Given the description of an element on the screen output the (x, y) to click on. 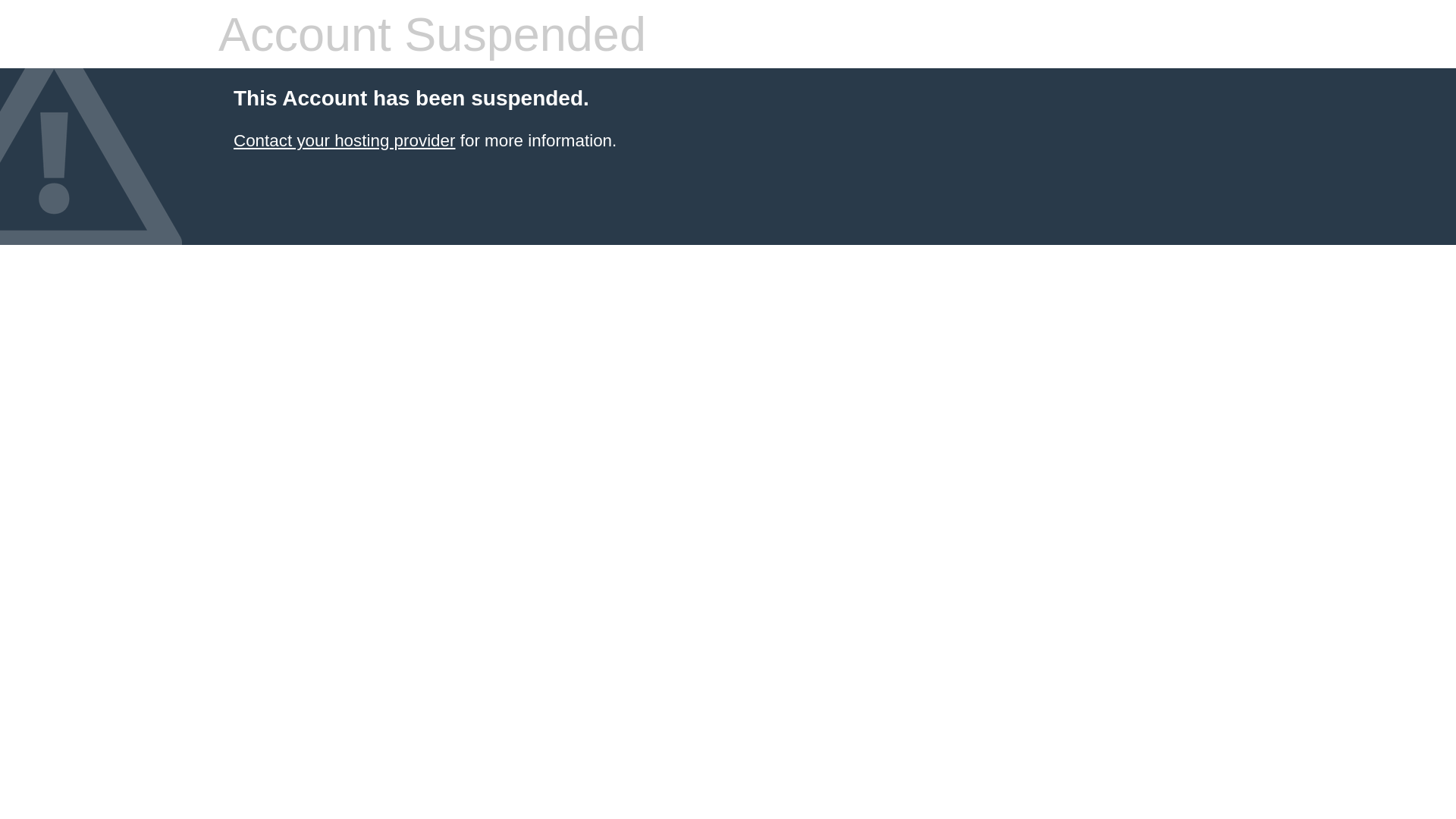
Contact your hosting provider Element type: text (344, 140)
